Given the description of an element on the screen output the (x, y) to click on. 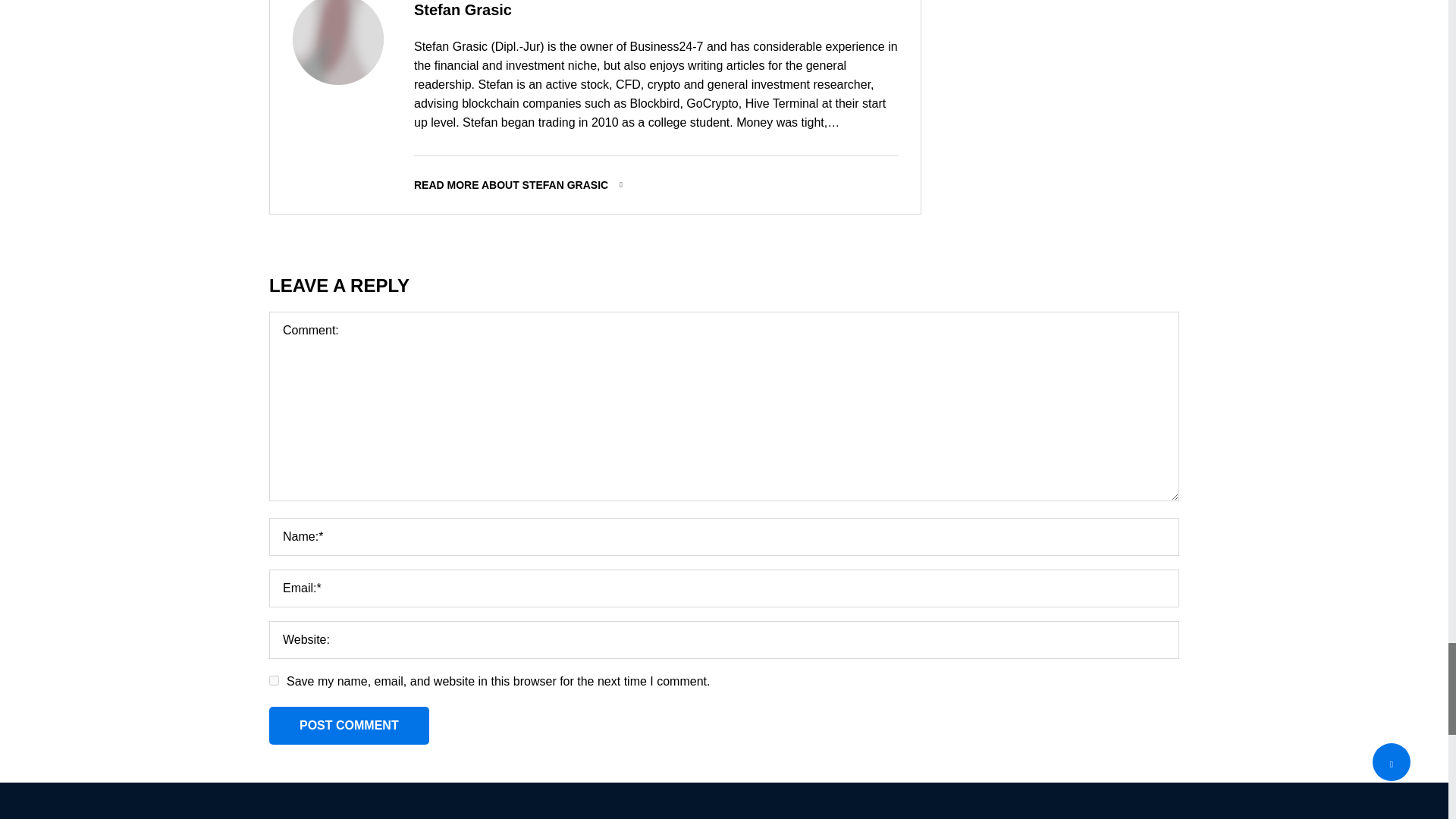
yes (274, 680)
Read more about Stefan Grasic (655, 184)
Post Comment (349, 725)
